Given the description of an element on the screen output the (x, y) to click on. 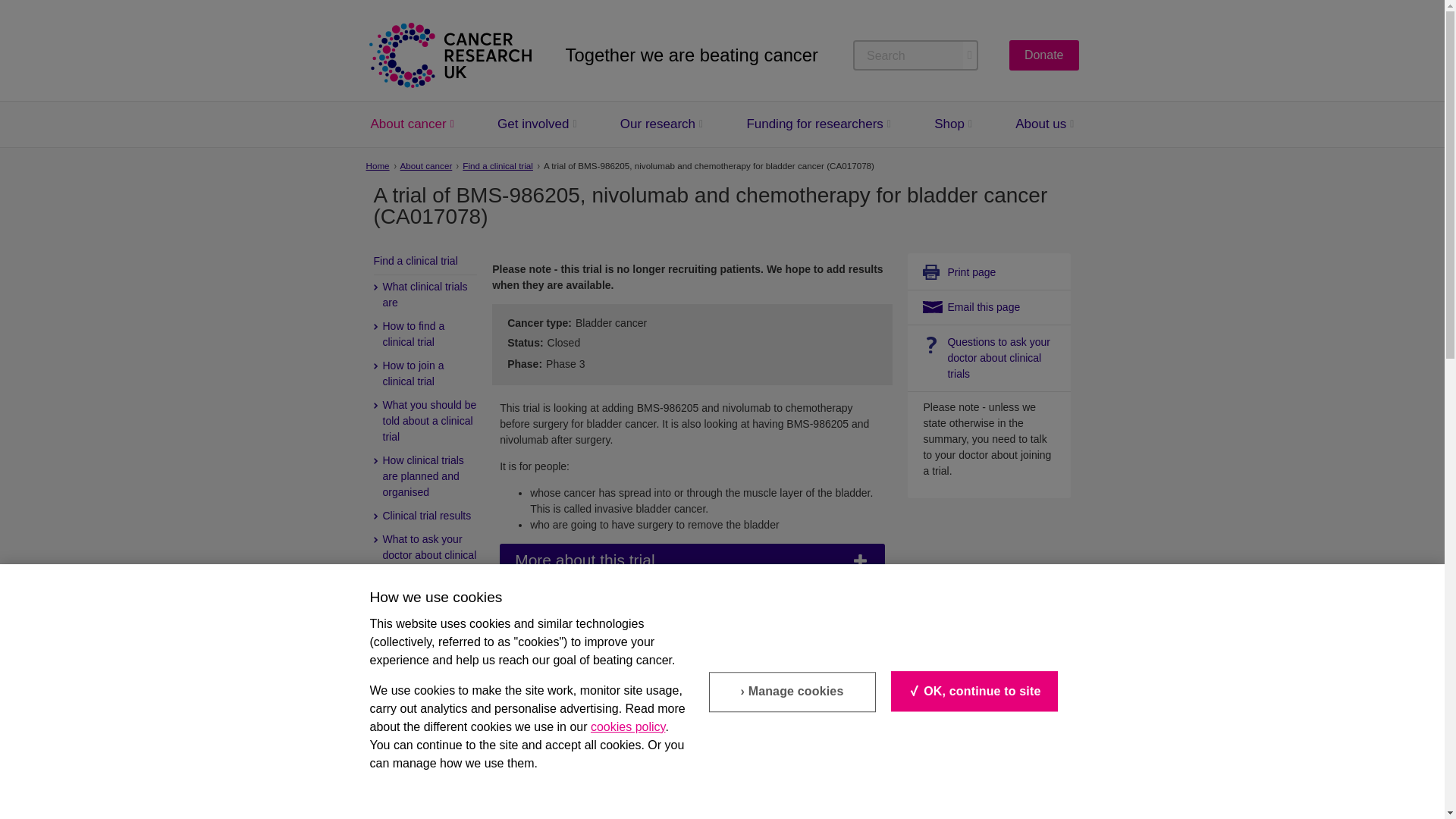
Donate (1043, 55)
About cancer (407, 124)
Get involved (533, 124)
Cancer Research UK Homepage (449, 54)
